Given the description of an element on the screen output the (x, y) to click on. 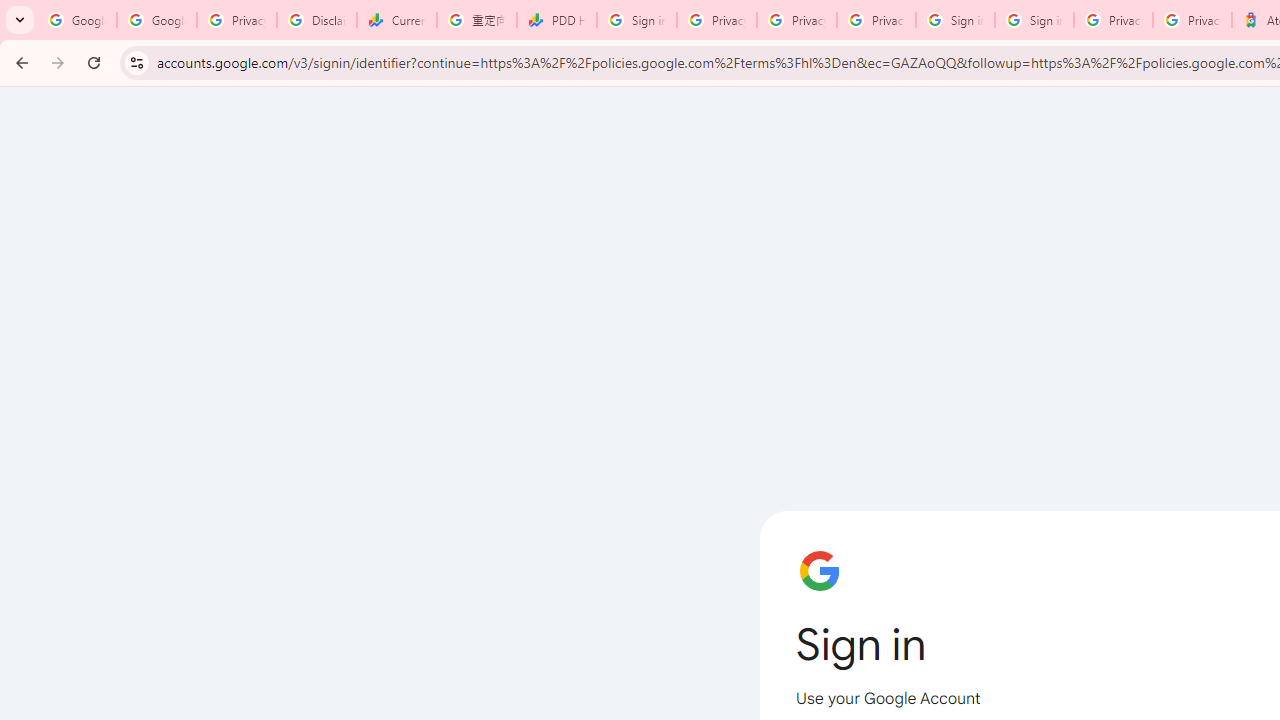
Sign in - Google Accounts (1033, 20)
PDD Holdings Inc - ADR (PDD) Price & News - Google Finance (556, 20)
Privacy Checkup (796, 20)
Currencies - Google Finance (396, 20)
